Given the description of an element on the screen output the (x, y) to click on. 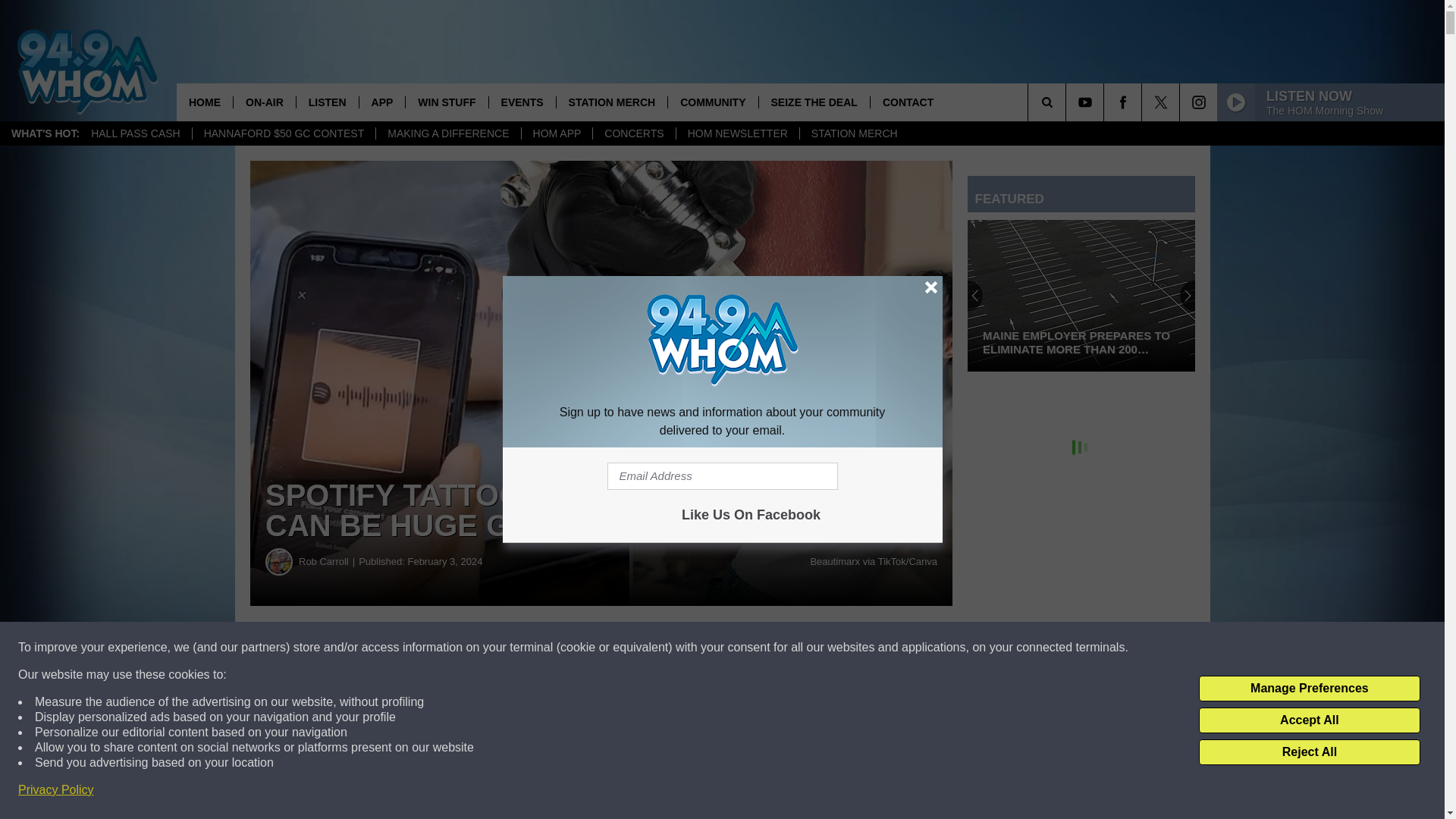
HALL PASS CASH (136, 133)
Email Address (722, 475)
Manage Preferences (1309, 688)
TWEET (741, 647)
HOME (204, 102)
STATION MERCH (853, 133)
HOM NEWSLETTER (737, 133)
APP (382, 102)
LISTEN (326, 102)
SEARCH (1068, 102)
ON-AIR (263, 102)
Privacy Policy (55, 789)
SEARCH (1068, 102)
SHARE (460, 647)
Accept All (1309, 720)
